Given the description of an element on the screen output the (x, y) to click on. 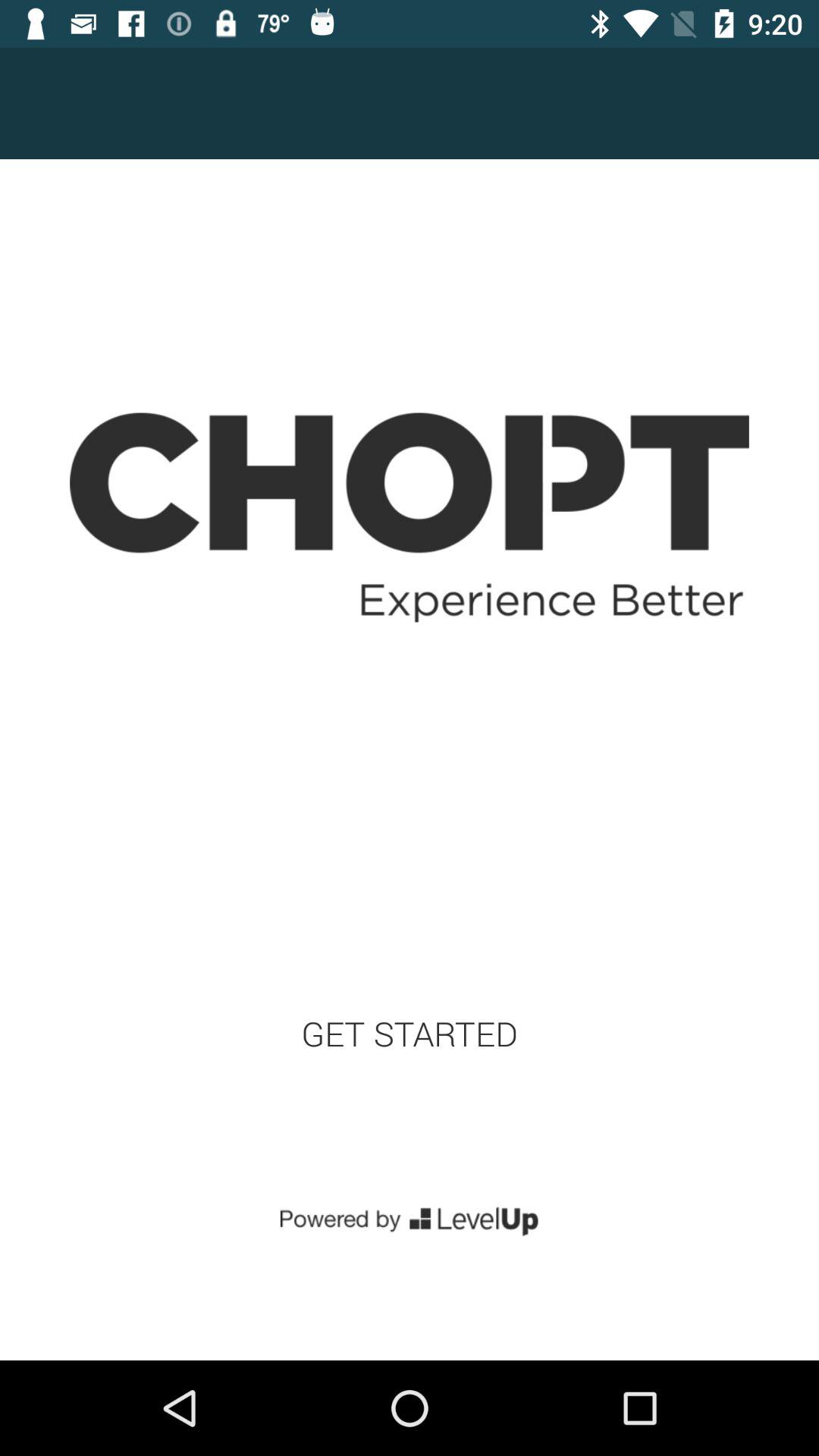
open get started icon (409, 1033)
